Given the description of an element on the screen output the (x, y) to click on. 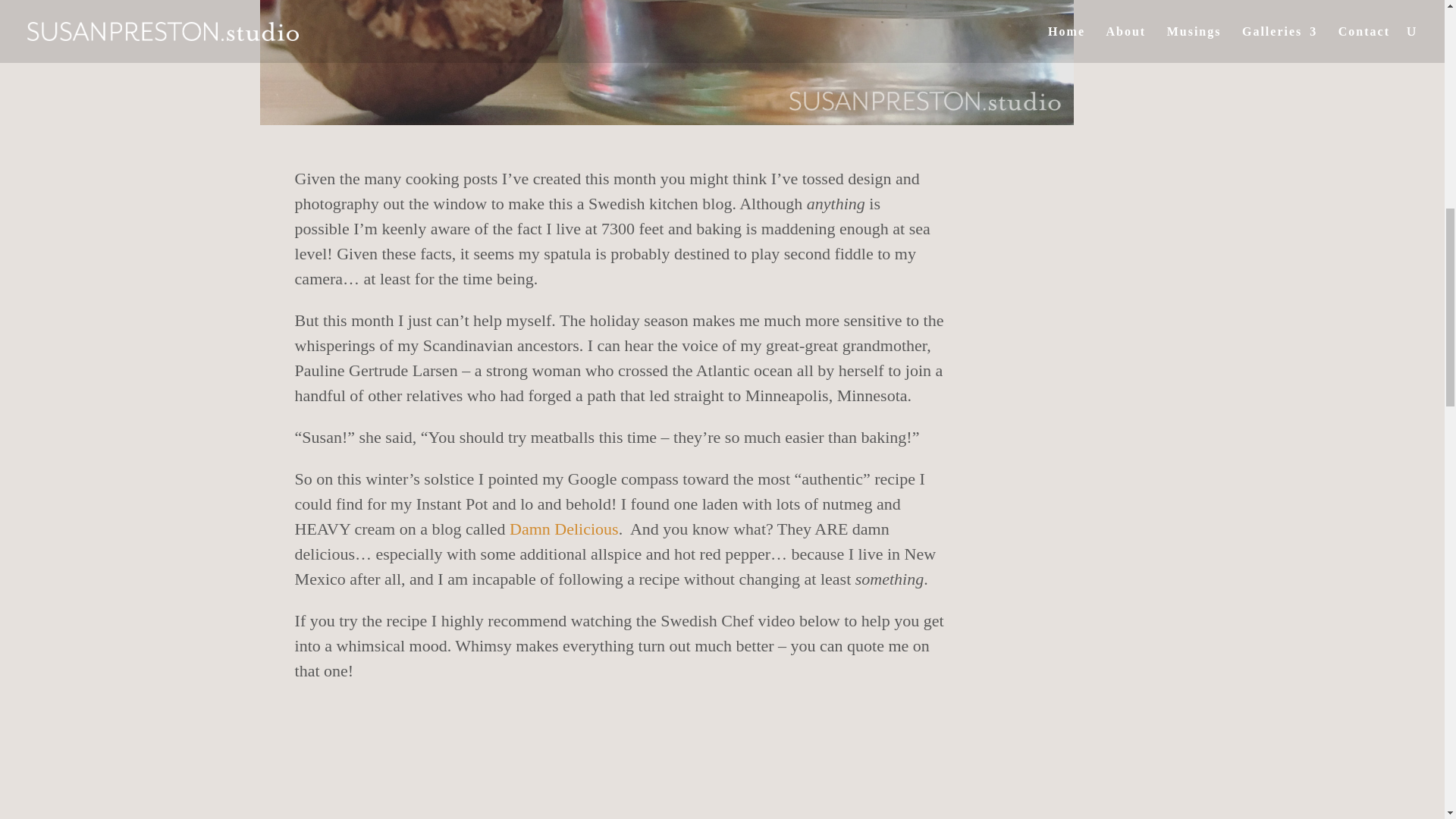
Damn Delicious (563, 528)
Swedish Chef - Meatballs (619, 776)
